Given the description of an element on the screen output the (x, y) to click on. 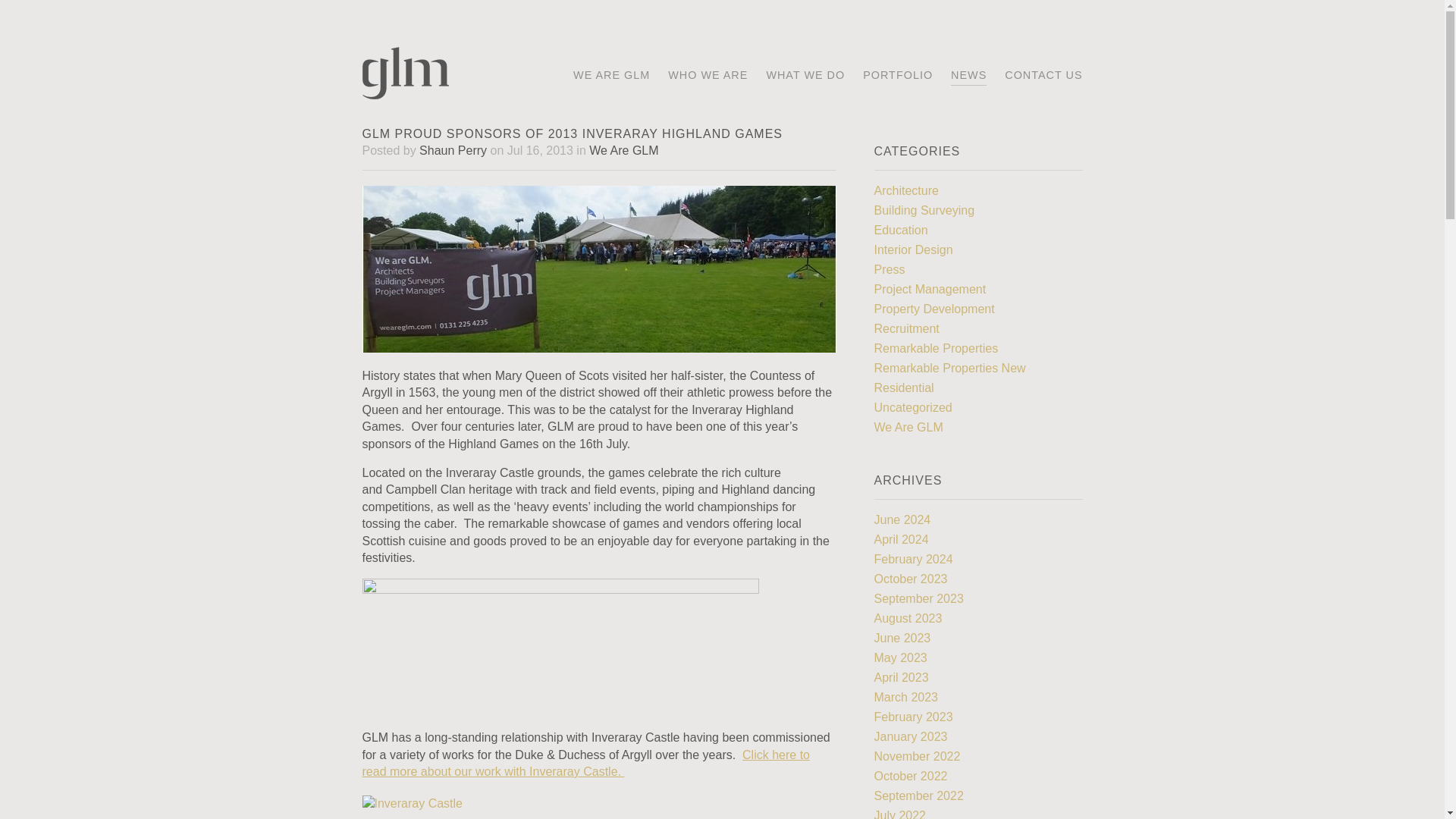
Posts by Shaun Perry (452, 150)
Residential (903, 387)
Press (888, 269)
Interior Design (912, 249)
August 2023 (907, 617)
Remarkable Properties (935, 348)
Recruitment (906, 328)
NEWS (968, 75)
Inveraray Castle (585, 763)
